Given the description of an element on the screen output the (x, y) to click on. 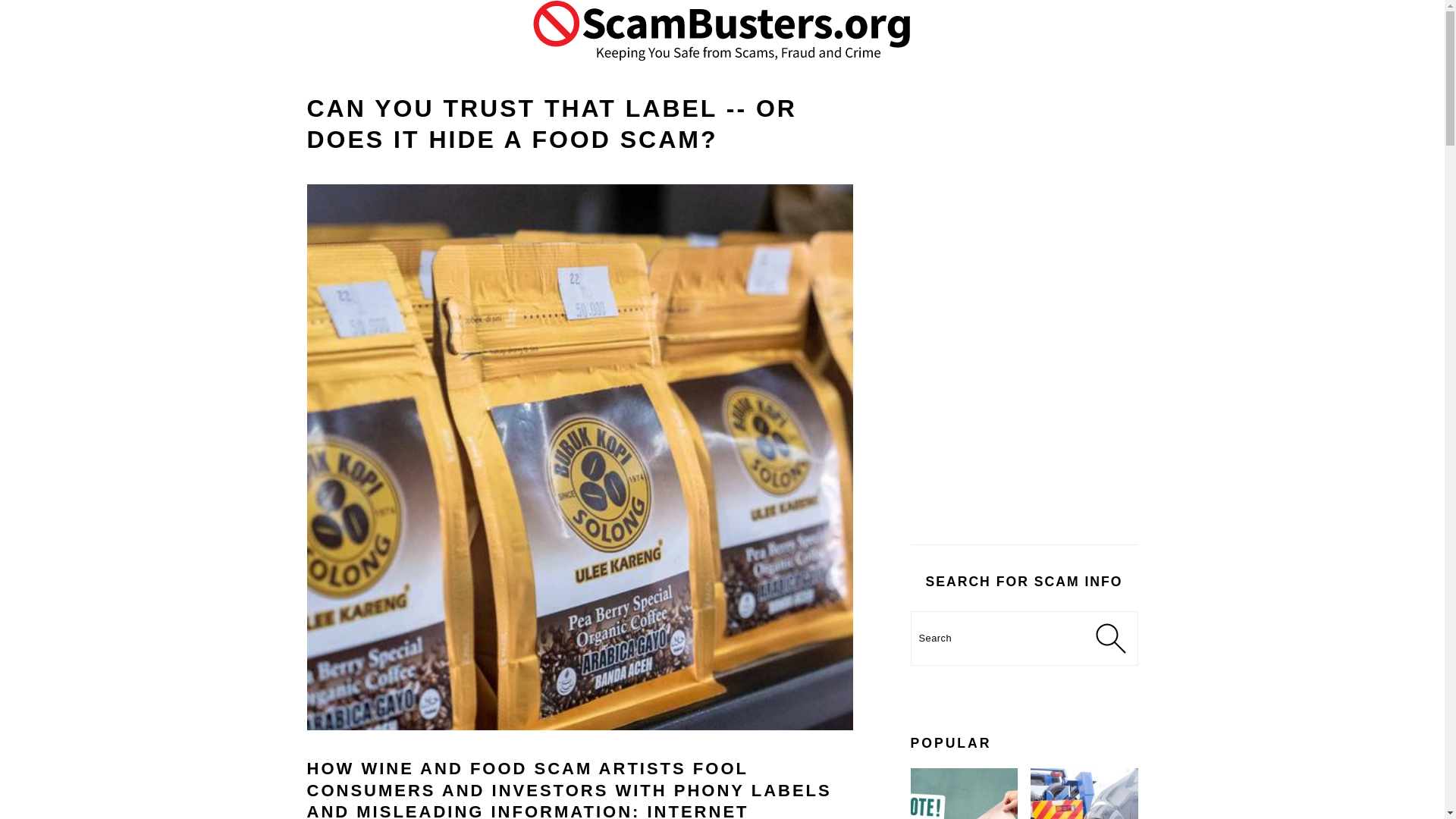
Tourists Targeted In Latest Tow Truck Scam (1084, 793)
Scambusters (721, 69)
Election Scams Revisited for 2024 Election (963, 793)
Scambusters (721, 30)
